Given the description of an element on the screen output the (x, y) to click on. 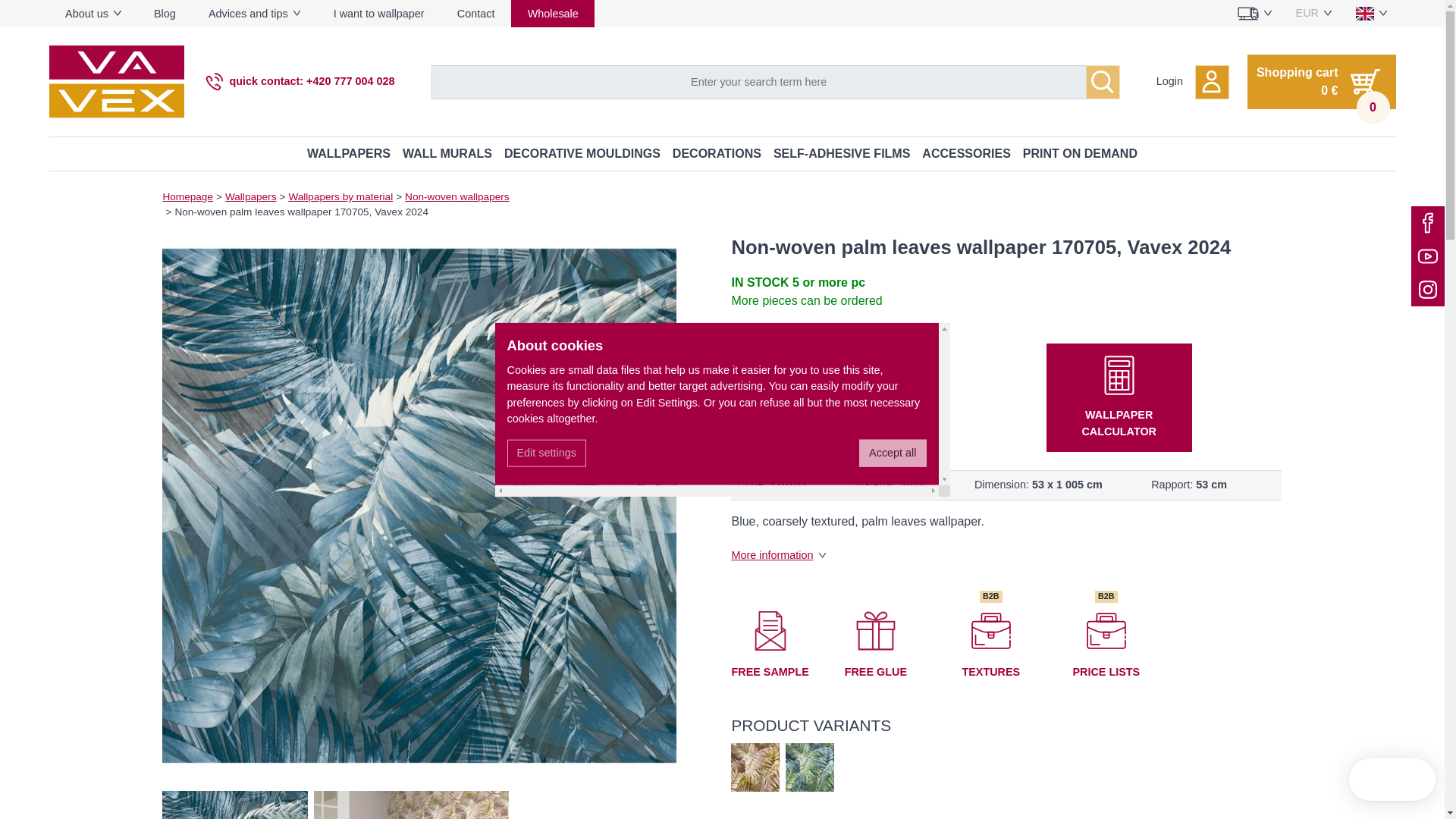
EUR (1313, 13)
Smartsupp widget button (1392, 779)
Contact (476, 13)
1 (852, 398)
I want to wallpaper (379, 13)
Advices and tips (254, 13)
About us (92, 13)
More information (777, 554)
Wholesale (552, 13)
Blog (164, 13)
